Given the description of an element on the screen output the (x, y) to click on. 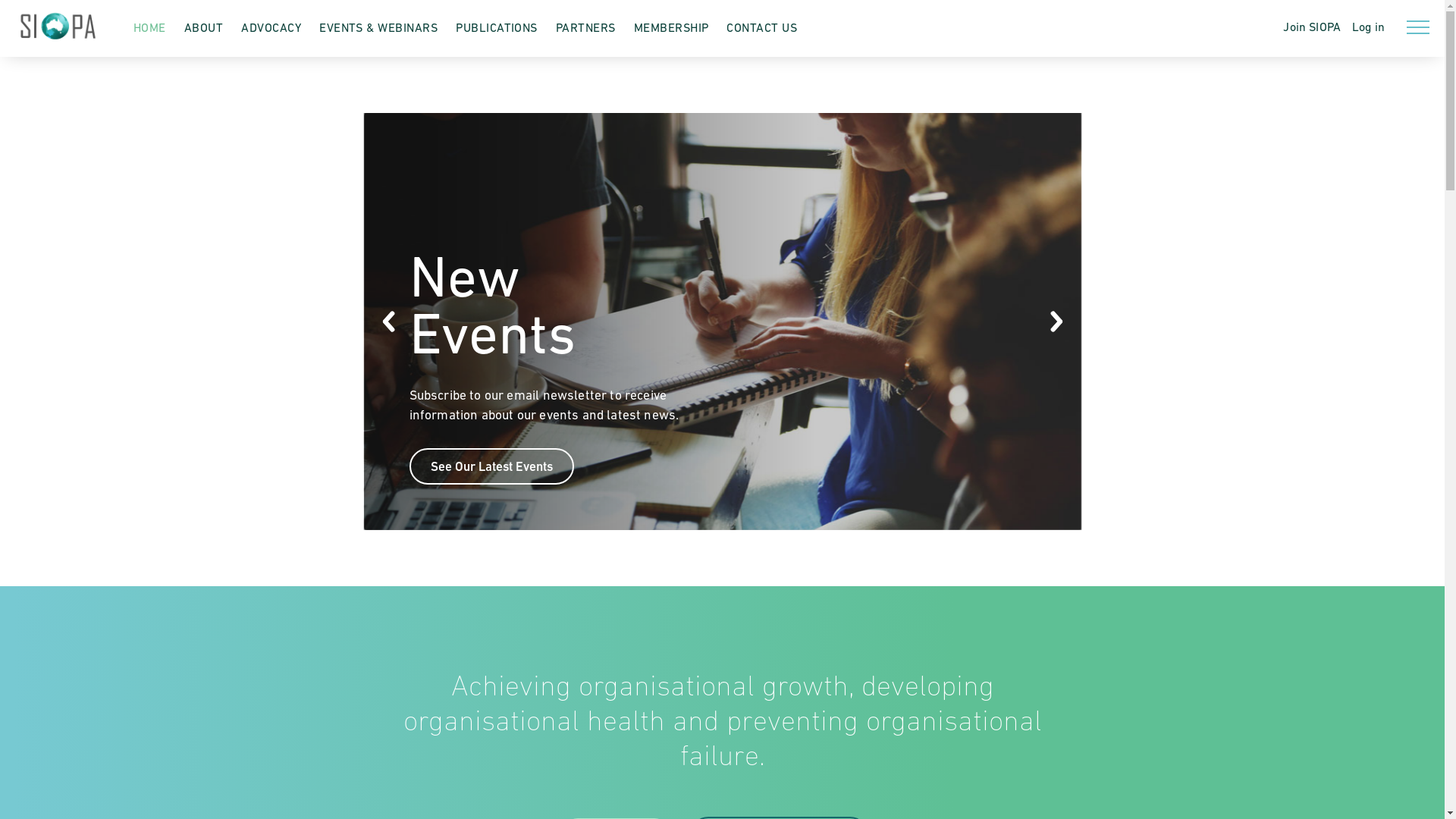
EVENTS & WEBINARS Element type: text (378, 27)
HOME Element type: text (149, 27)
Join SIOPA Element type: text (1311, 26)
Menu Element type: text (1417, 26)
Log in Element type: text (1362, 26)
ABOUT Element type: text (203, 27)
CONTACT US Element type: text (761, 27)
See Our Latest Events Element type: text (491, 466)
MEMBERSHIP Element type: text (671, 27)
PUBLICATIONS Element type: text (496, 27)
ADVOCACY Element type: text (270, 27)
PARTNERS Element type: text (585, 27)
